Given the description of an element on the screen output the (x, y) to click on. 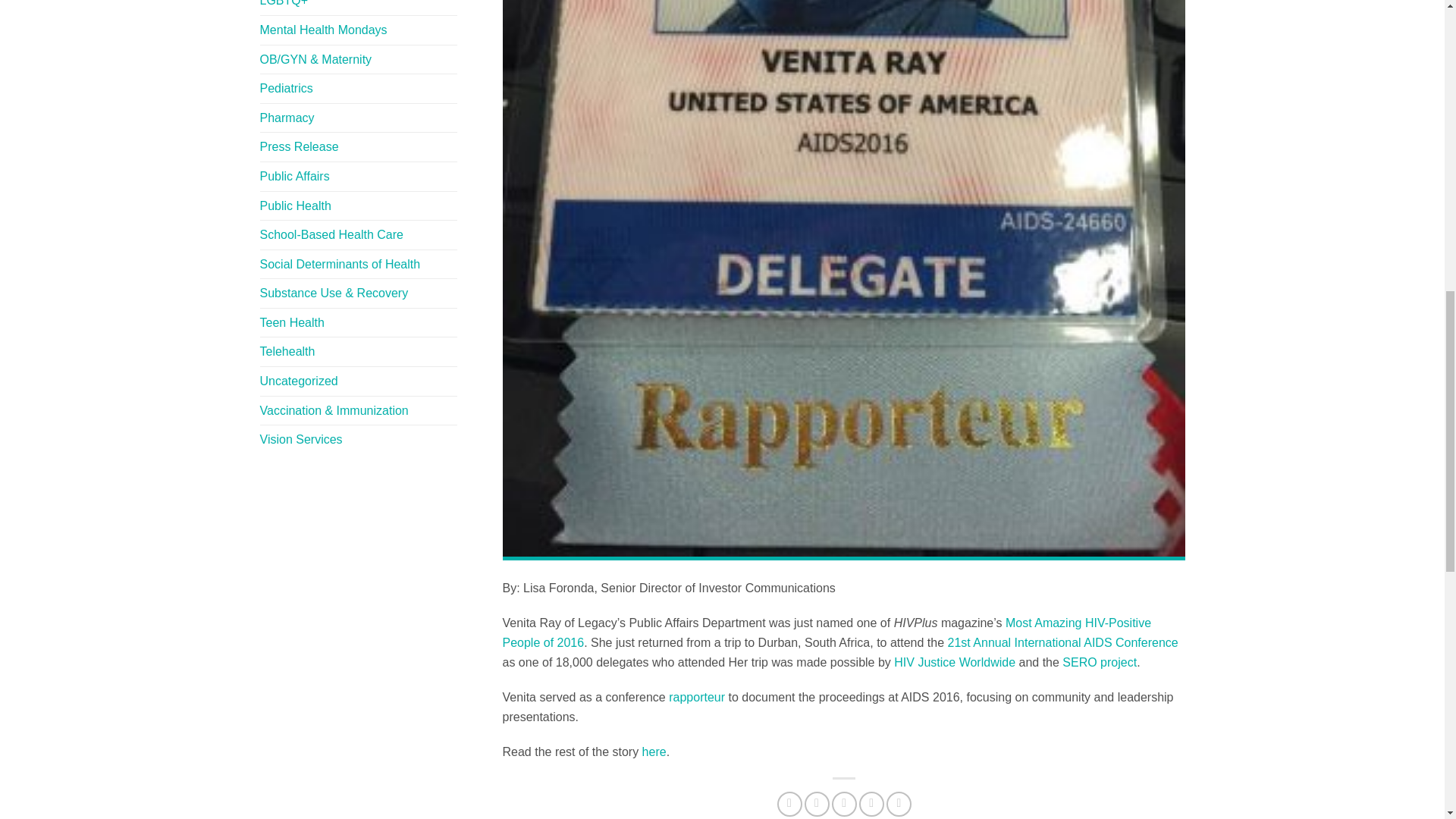
Email to a Friend (844, 803)
Share on Facebook (789, 803)
Share on Twitter (817, 803)
